Given the description of an element on the screen output the (x, y) to click on. 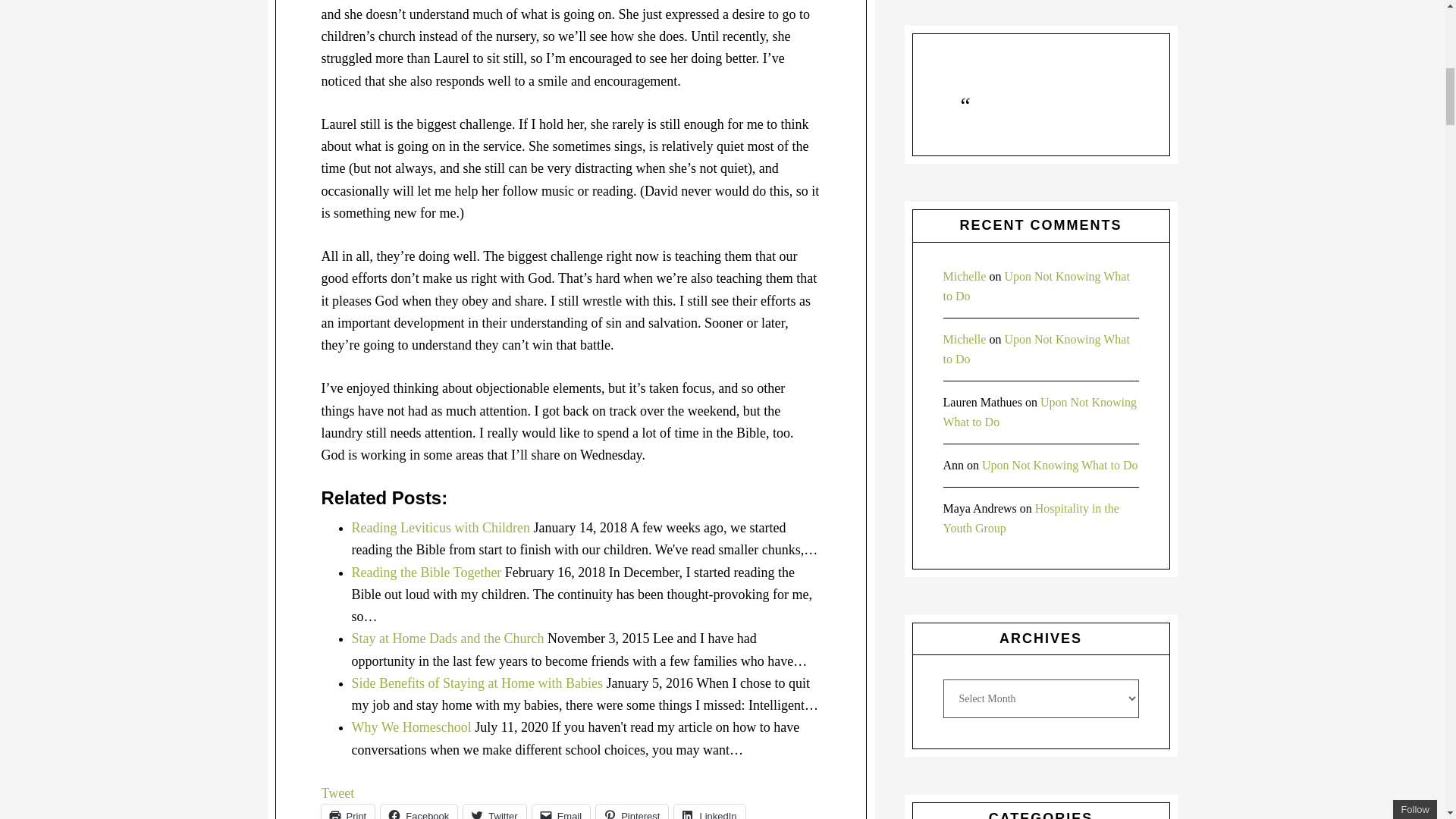
LinkedIn (709, 811)
Pinterest (631, 811)
Click to share on Facebook (418, 811)
Twitter (494, 811)
Email (561, 811)
Stay at Home Dads and the Church (448, 638)
Reading the Bible Together (427, 572)
Tweet (338, 792)
Sign up! (1361, 87)
Print (348, 811)
Why We Homeschool (411, 726)
Side Benefits of Staying at Home with Babies (477, 683)
Click to email a link to a friend (561, 811)
Facebook (418, 811)
Click to share on Twitter (494, 811)
